Given the description of an element on the screen output the (x, y) to click on. 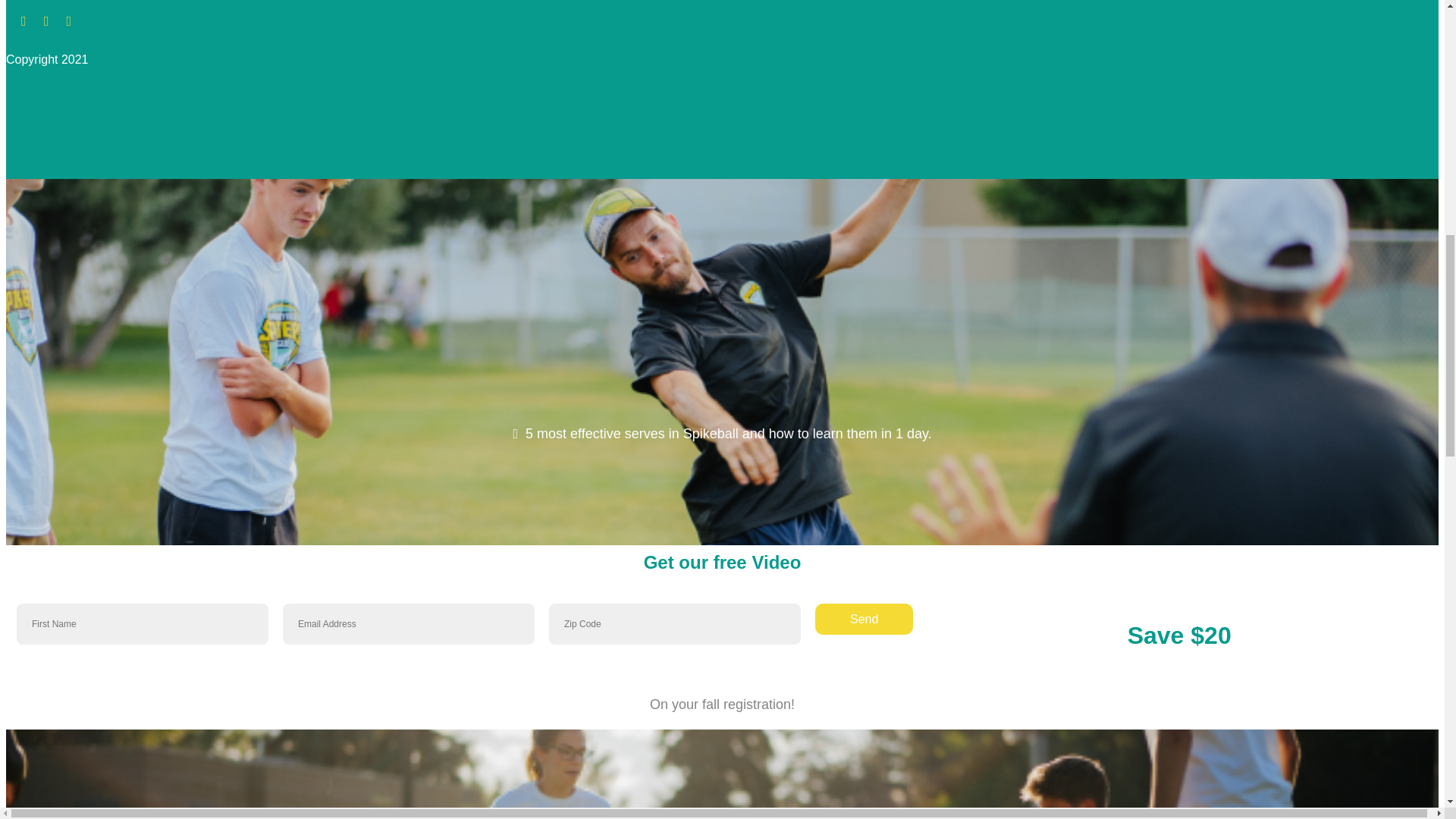
Send (863, 618)
